Given the description of an element on the screen output the (x, y) to click on. 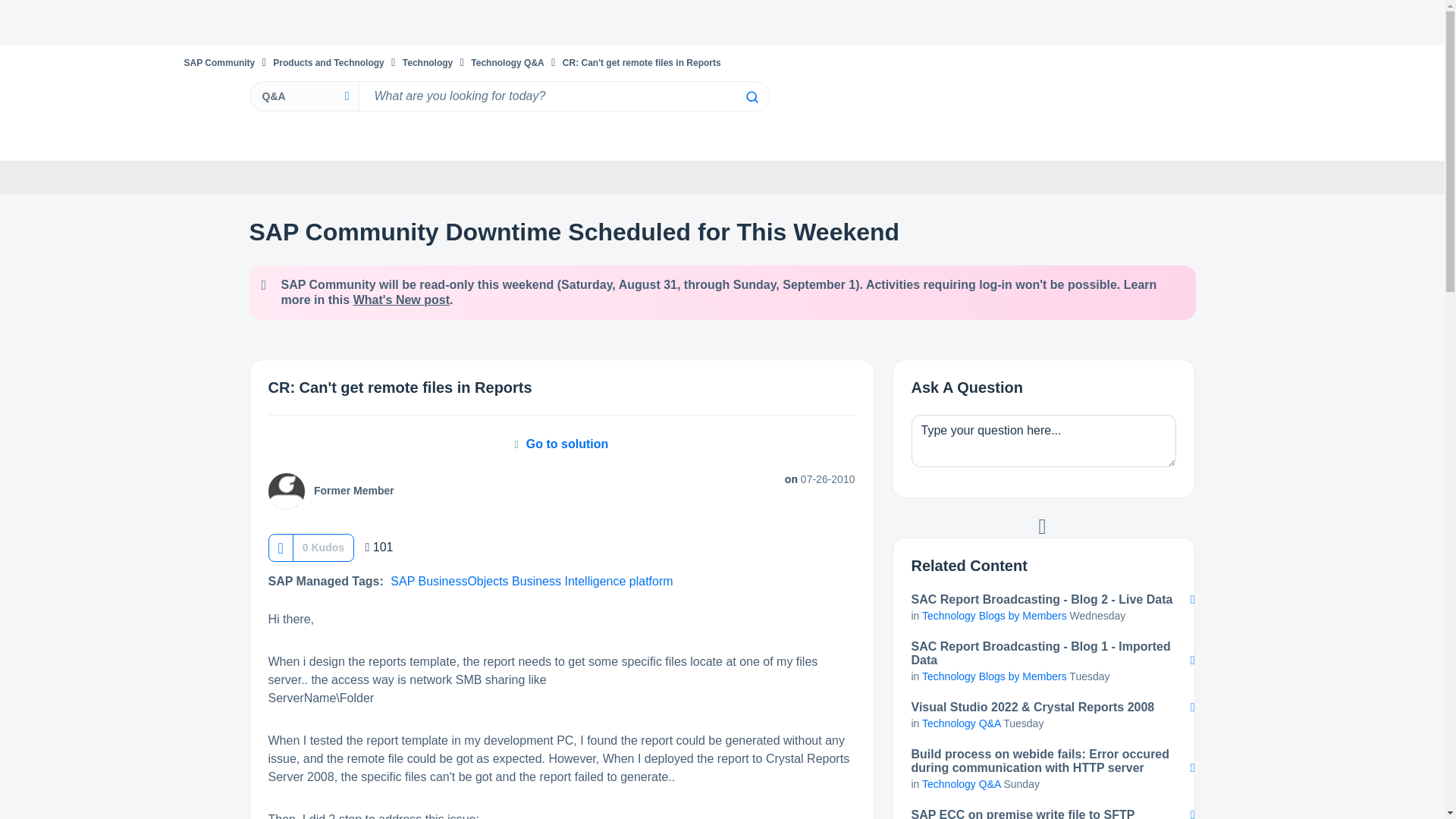
Products and Technology (328, 62)
Search (563, 96)
The total number of kudos this post has received. (323, 547)
Search Granularity (303, 96)
Search (750, 96)
SAP Community (218, 62)
Go to solution (561, 443)
Search (750, 96)
Technology (427, 62)
Click here to give kudos to this post. (279, 547)
